Given the description of an element on the screen output the (x, y) to click on. 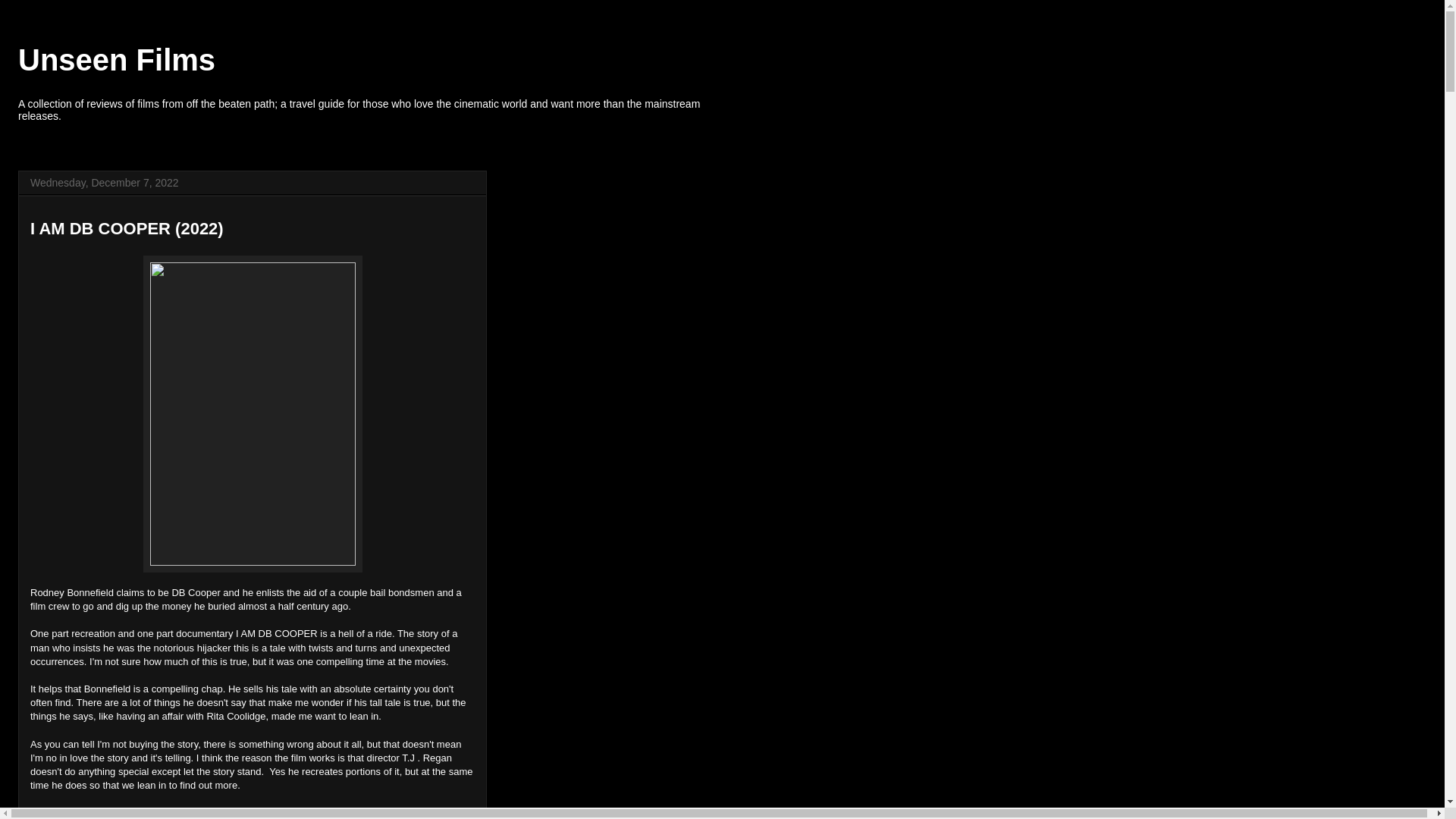
Unseen Films (116, 59)
